Given the description of an element on the screen output the (x, y) to click on. 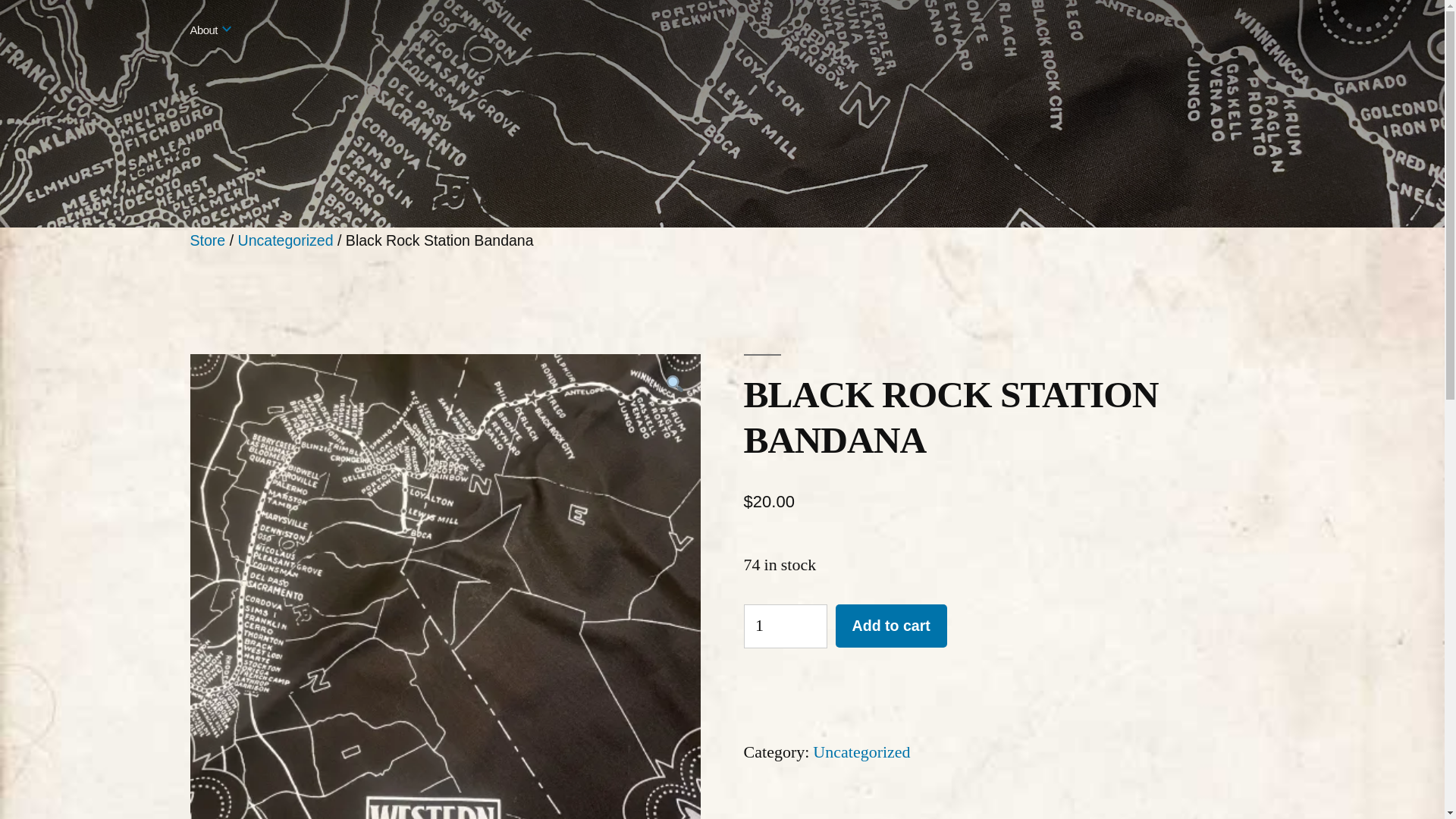
Add to cart (891, 625)
About (202, 30)
Uncategorized (285, 239)
1 (785, 625)
Uncategorized (861, 752)
Store (207, 239)
PayPal (999, 692)
